Given the description of an element on the screen output the (x, y) to click on. 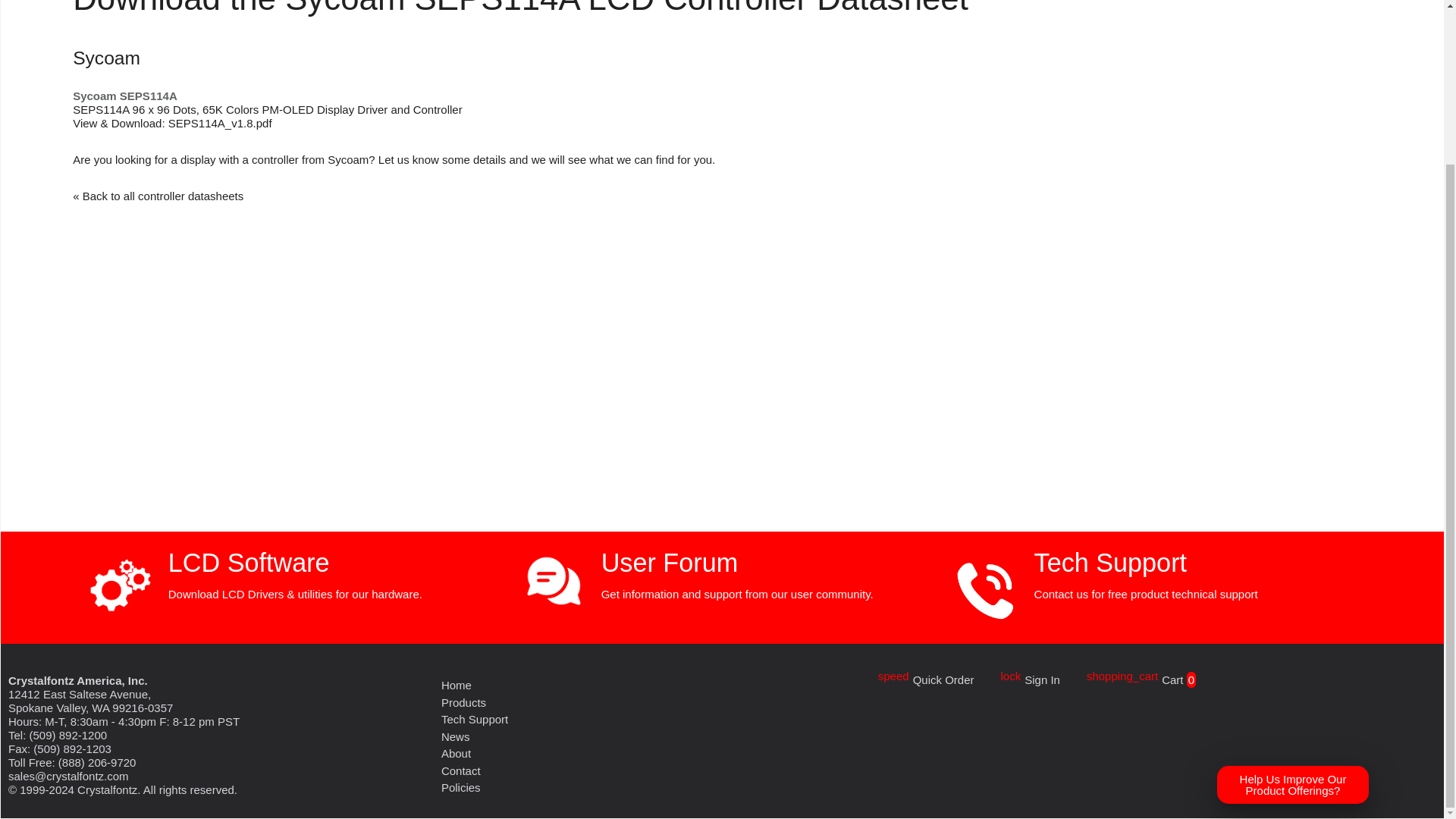
Sign In (1042, 678)
